Given the description of an element on the screen output the (x, y) to click on. 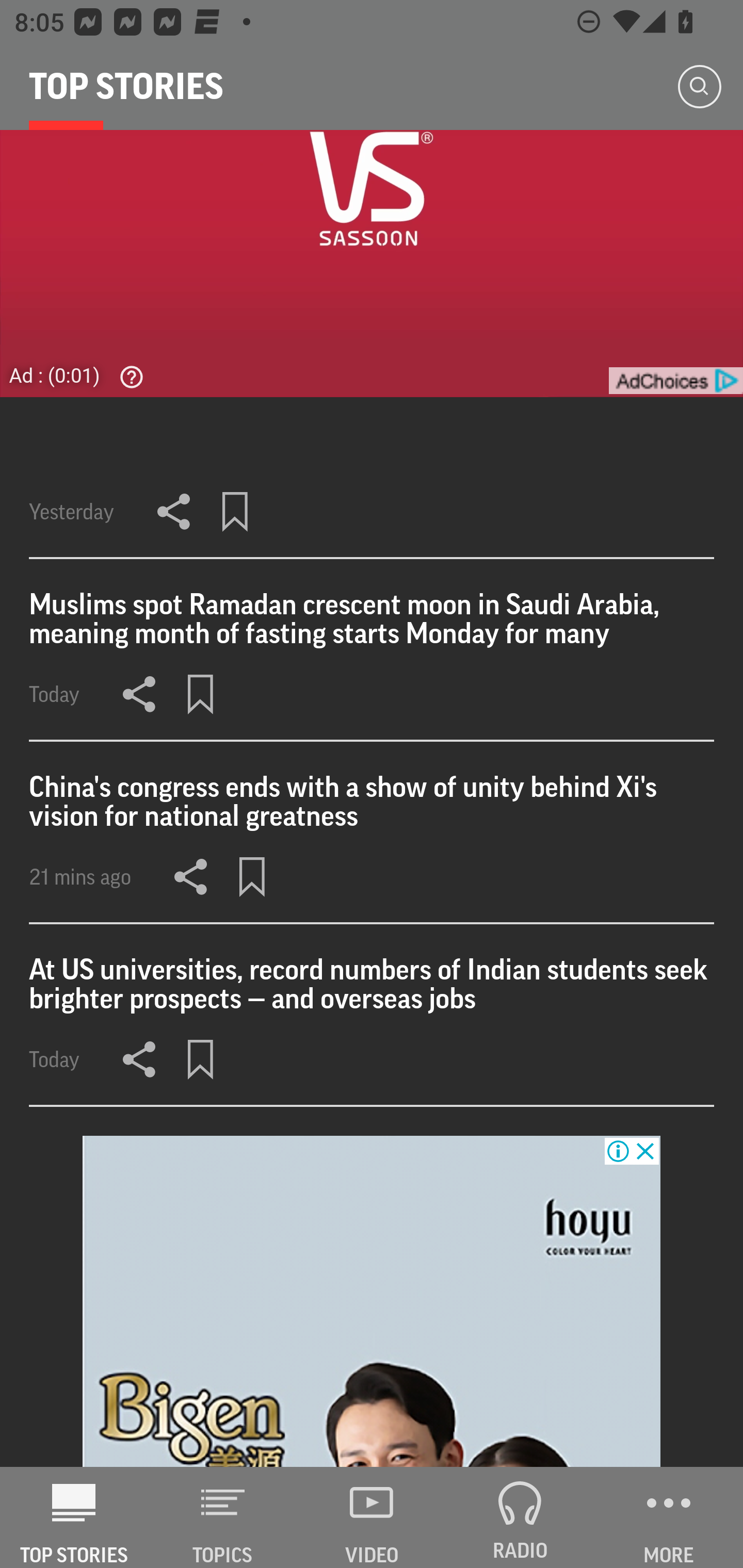
Ad : (0:01) Why This Ad? (82, 375)
Why This Ad? (126, 376)
get?name=admarker-full-tl (675, 380)
AP News TOP STORIES (74, 1517)
TOPICS (222, 1517)
VIDEO (371, 1517)
RADIO (519, 1517)
MORE (668, 1517)
